Given the description of an element on the screen output the (x, y) to click on. 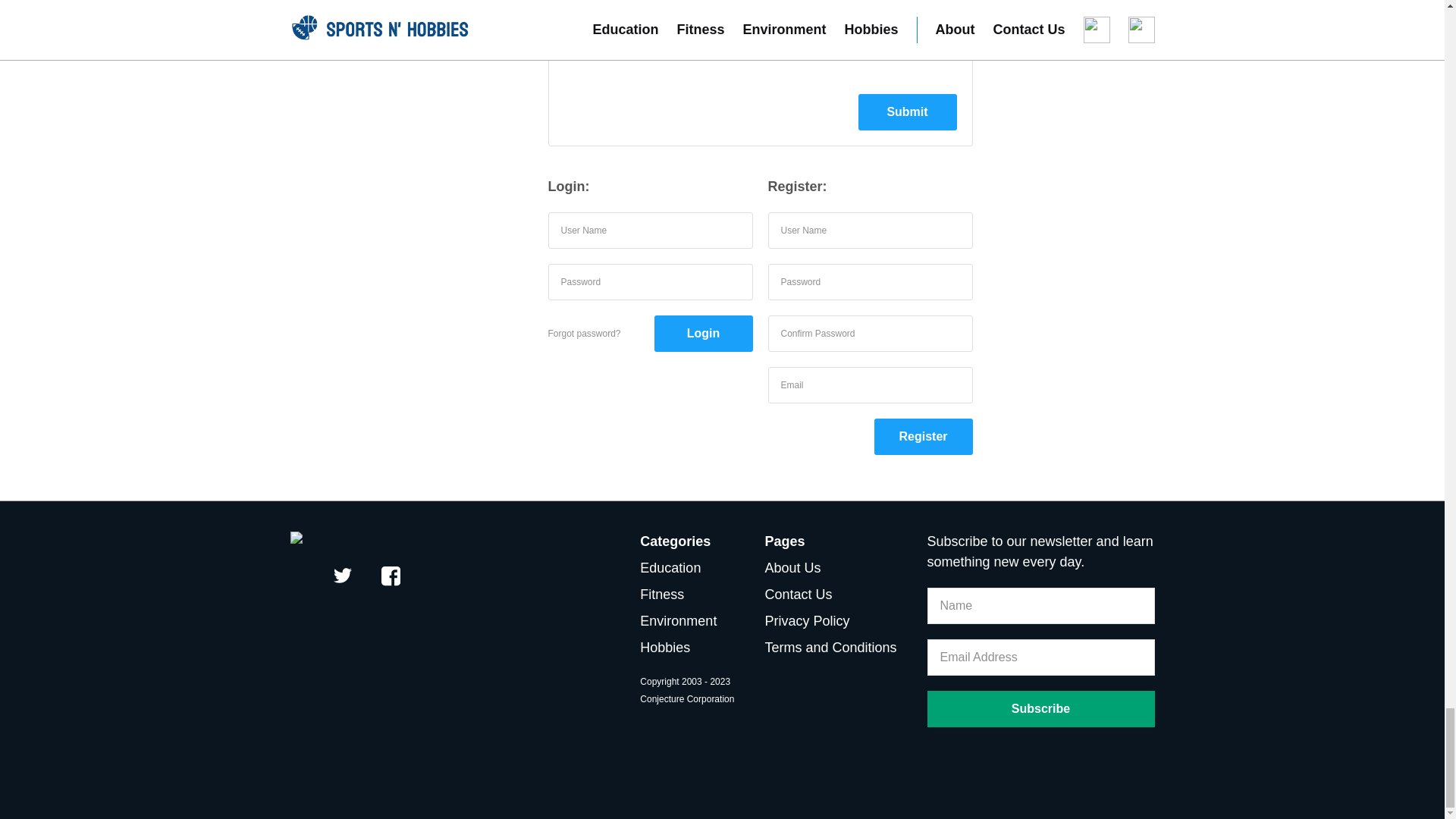
Subscribe (1040, 709)
Login (702, 333)
Register (922, 436)
Submit (907, 112)
Login (702, 333)
Submit (907, 112)
